Given the description of an element on the screen output the (x, y) to click on. 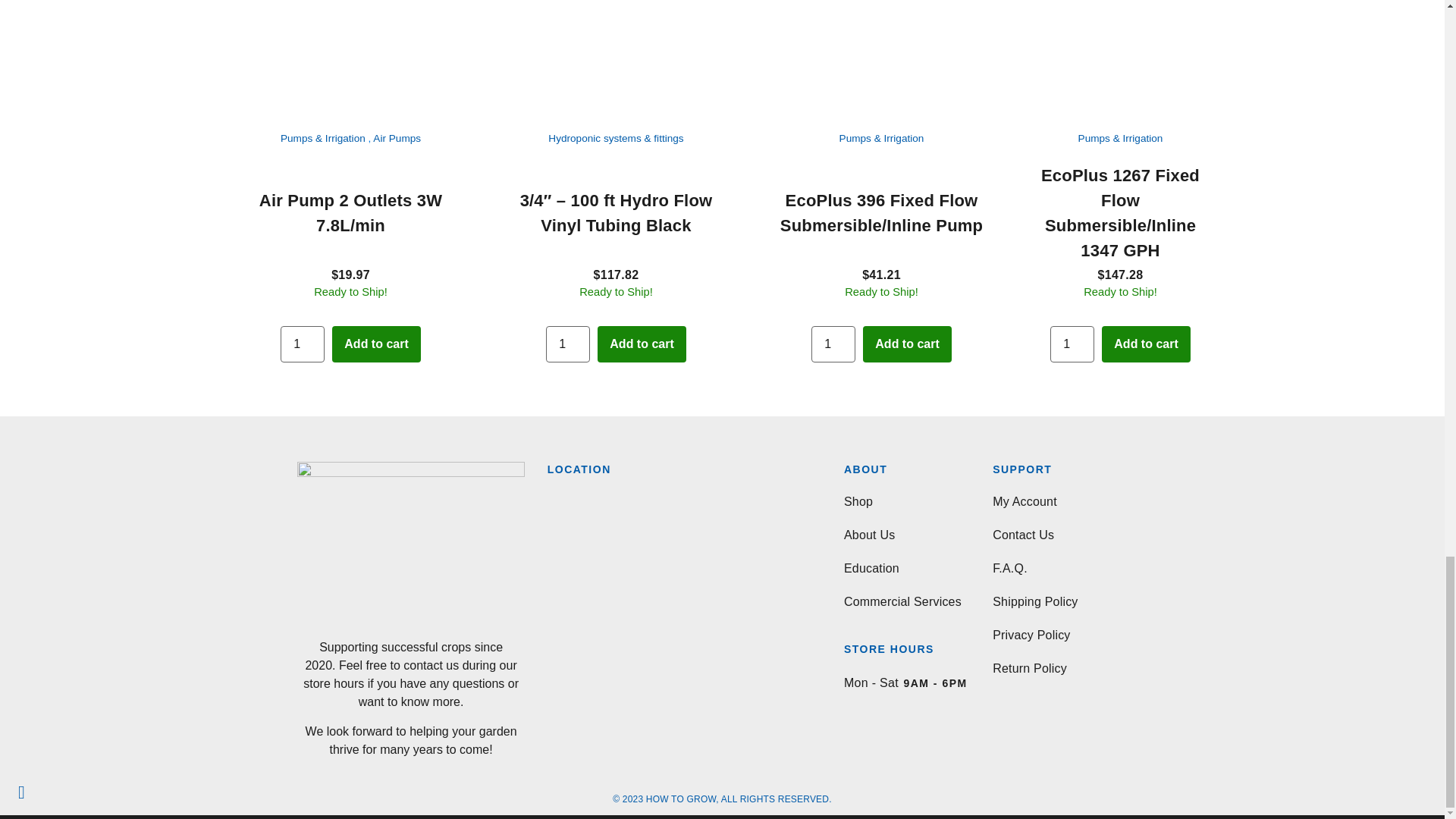
How To Grow, Rapid City, SD 57701 (676, 606)
1 (302, 343)
1 (567, 343)
1 (1071, 343)
1 (833, 343)
